Given the description of an element on the screen output the (x, y) to click on. 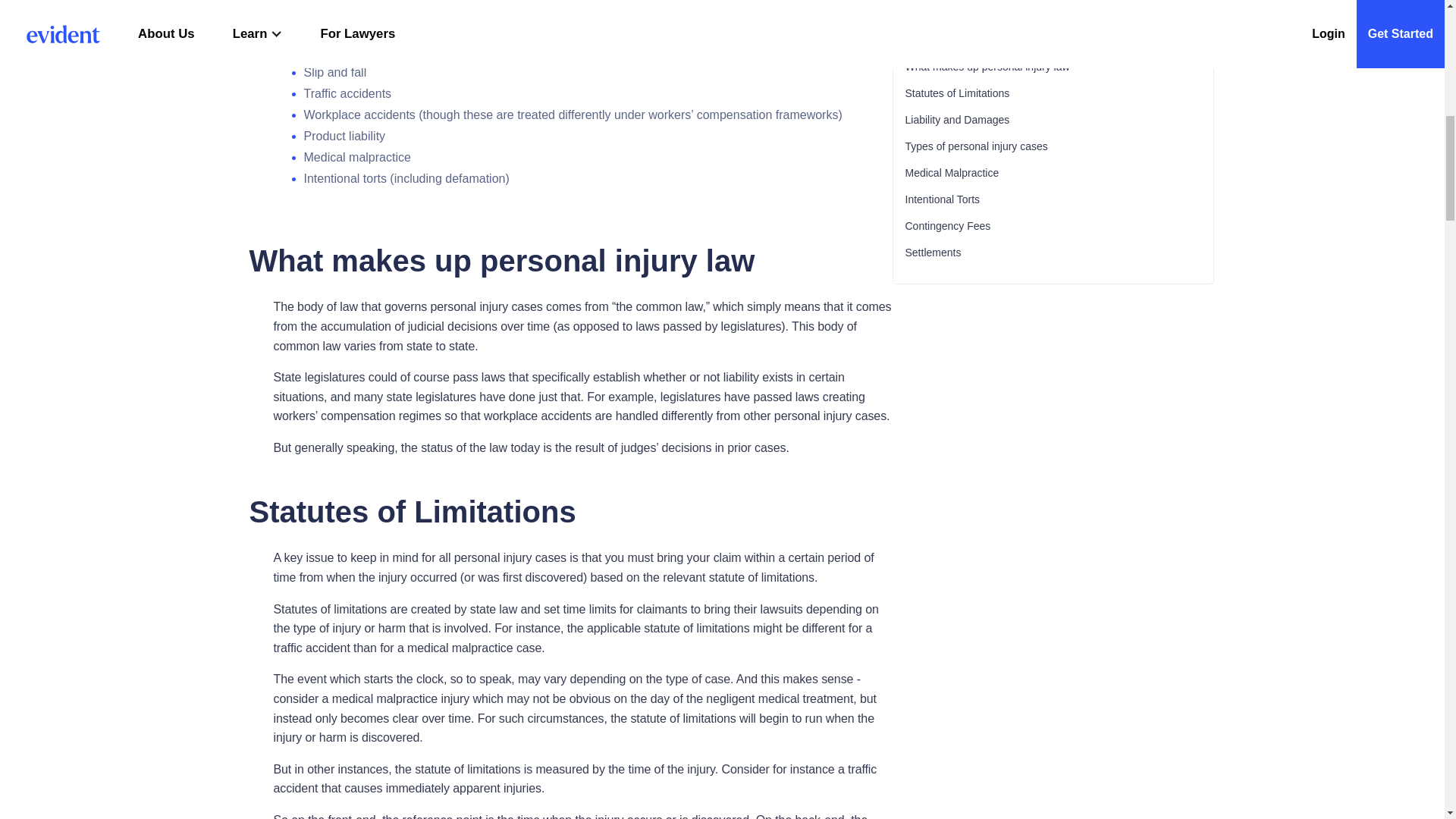
Contingency Fees (1053, 226)
Statutes of Limitations (1053, 93)
Liability and Damages (1053, 119)
Medical Malpractice (1053, 172)
Settlements (1053, 252)
Types of personal injury cases (1053, 146)
Intentional Torts (1053, 199)
